Given the description of an element on the screen output the (x, y) to click on. 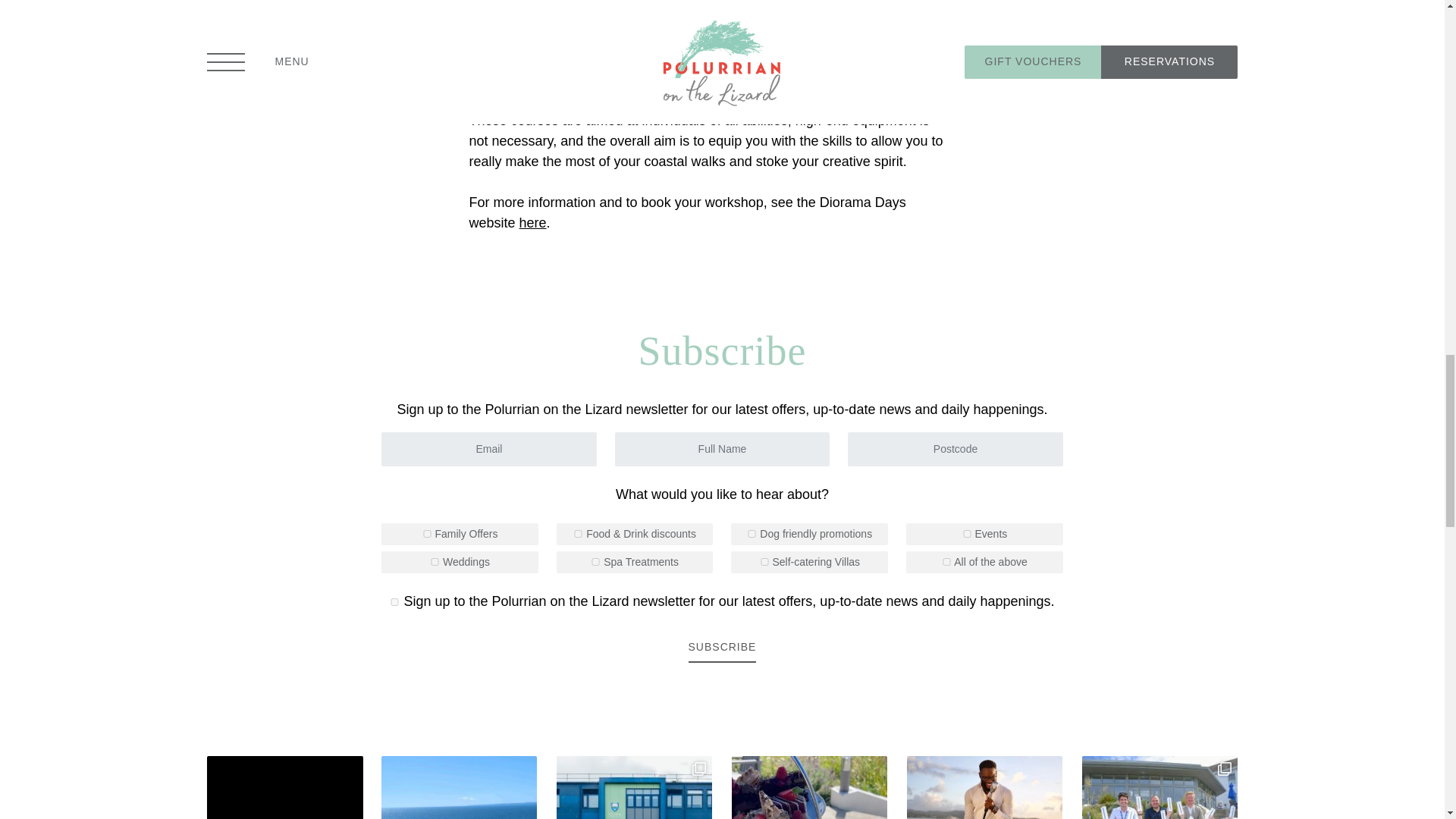
on (595, 561)
on (578, 533)
on (427, 533)
Subscribe (722, 647)
on (967, 533)
on (434, 561)
on (947, 561)
on (765, 561)
on (394, 602)
on (751, 533)
